Given the description of an element on the screen output the (x, y) to click on. 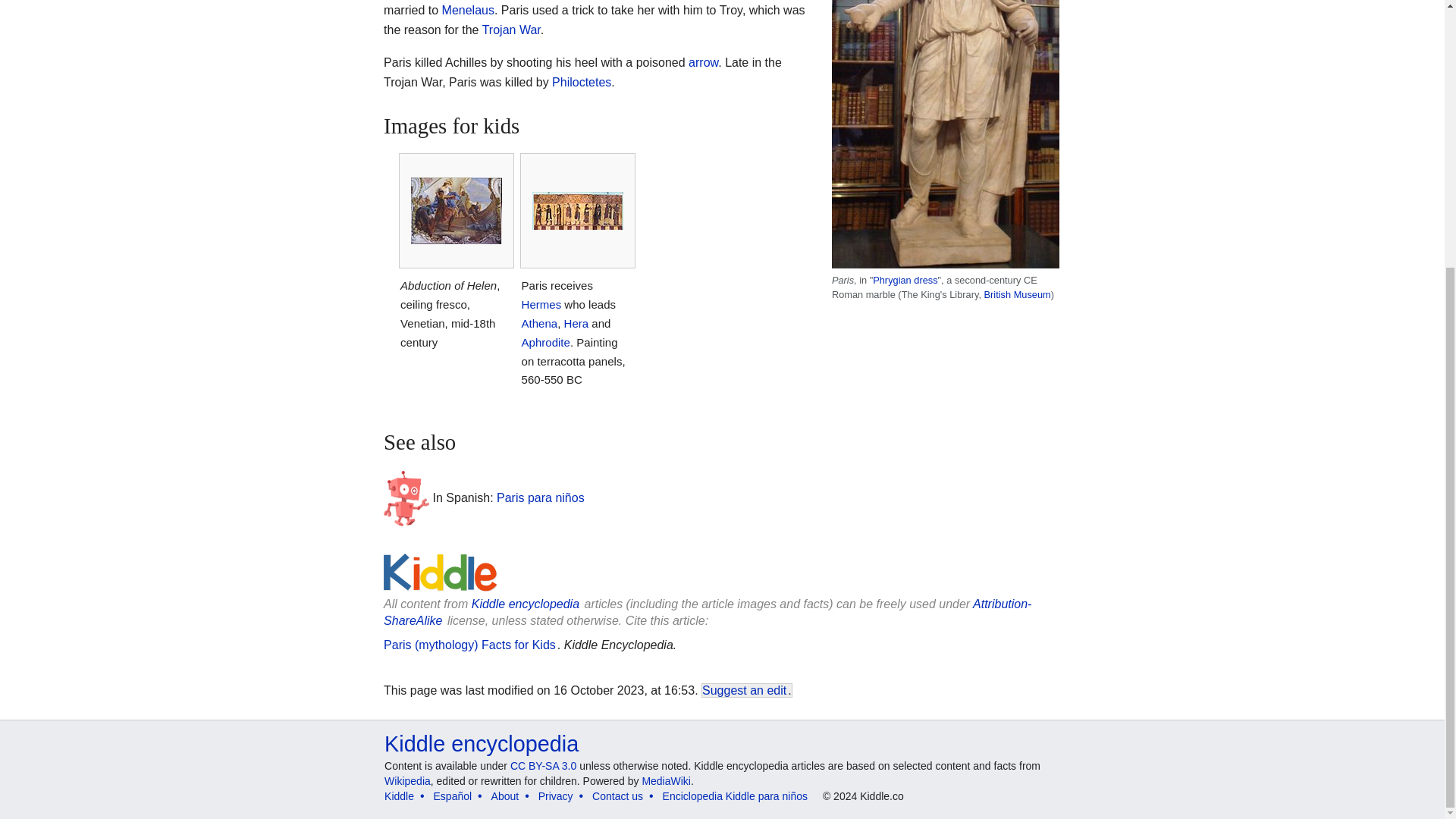
Kiddle encyclopedia (481, 743)
Aphrodite (545, 341)
Trojan War (510, 29)
British Museum (1017, 294)
Suggest an edit (743, 689)
Philoctetes (581, 82)
Phrygian cap (904, 279)
Philoctetes (581, 82)
Athena (539, 323)
British Museum (1017, 294)
